Given the description of an element on the screen output the (x, y) to click on. 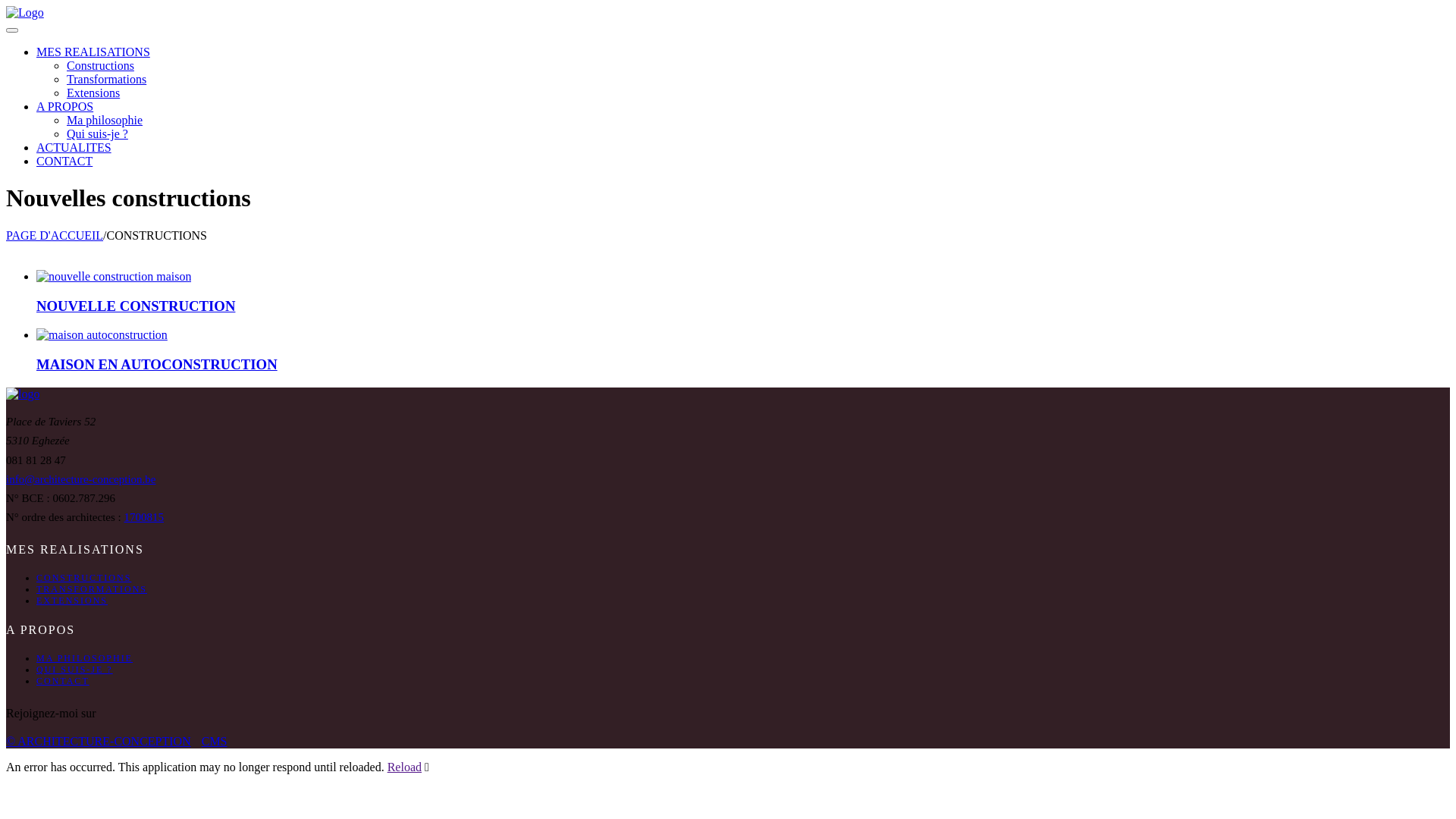
Ma philosophie Element type: text (757, 120)
TRANSFORMATIONS Element type: text (91, 588)
MES REALISATIONS Element type: text (742, 52)
A PROPOS Element type: text (742, 106)
1700815 Element type: text (144, 517)
CMS Element type: text (214, 740)
Extensions Element type: text (757, 93)
MA PHILOSOPHIE Element type: text (84, 657)
CONTACT Element type: text (62, 680)
CONSTRUCTIONS Element type: text (83, 577)
MAISON EN AUTOCONSTRUCTION Element type: text (156, 364)
NOUVELLE CONSTRUCTION Element type: text (135, 305)
CONTACT Element type: text (742, 161)
info@architecture-conception.be Element type: text (80, 479)
Constructions Element type: text (757, 65)
EXTENSIONS Element type: text (71, 600)
Reload Element type: text (404, 766)
PAGE D'ACCUEIL Element type: text (54, 235)
QUI SUIS-JE ? Element type: text (74, 669)
Qui suis-je ? Element type: text (757, 134)
Transformations Element type: text (757, 79)
ACTUALITES Element type: text (742, 147)
